Given the description of an element on the screen output the (x, y) to click on. 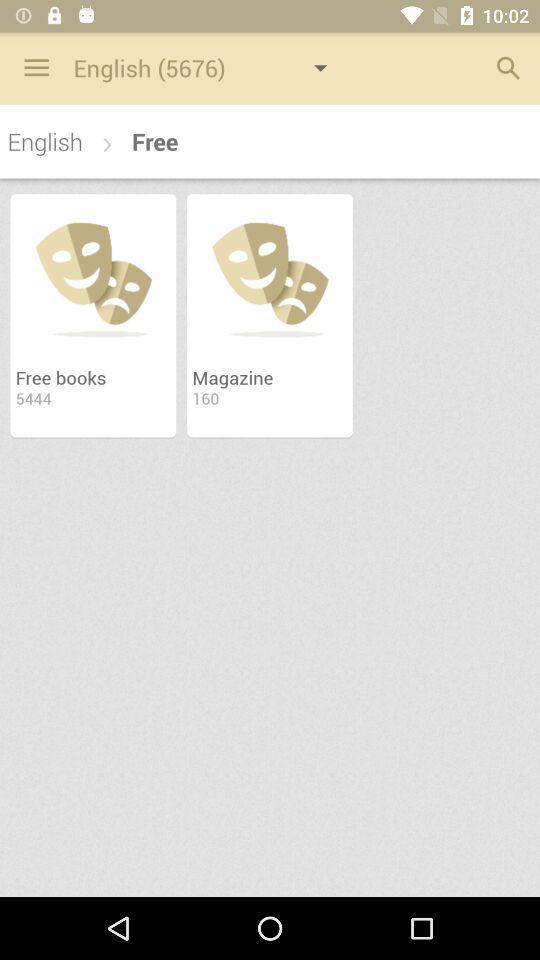
click on the image above the text free books (93, 276)
click on the button which is left side of the search (212, 67)
